Given the description of an element on the screen output the (x, y) to click on. 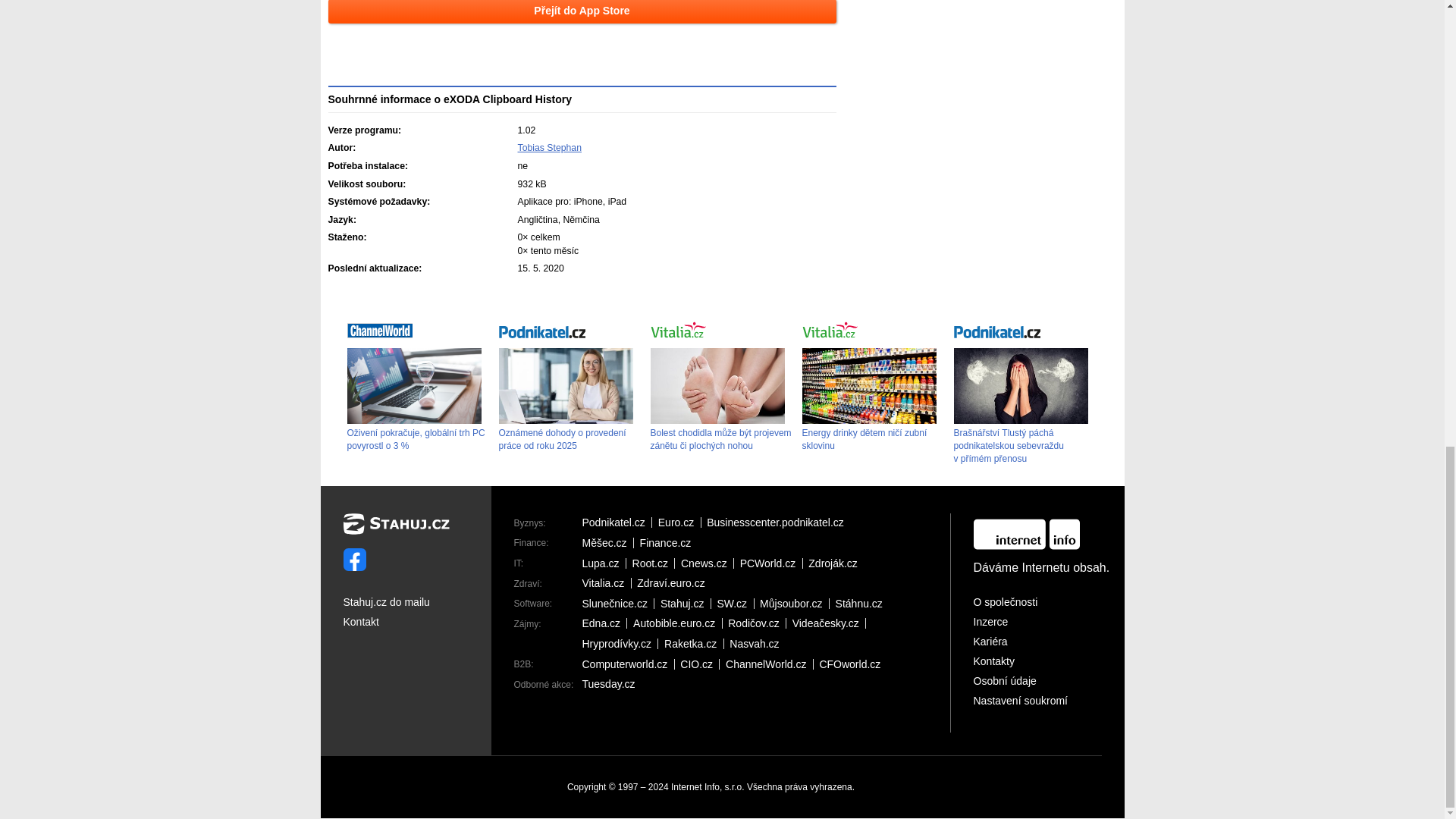
businesscenter.podnikatel.cz (778, 521)
Tobias Stephan (548, 147)
Finance.cz (668, 542)
Euro.cz (679, 521)
Cnews.cz (707, 562)
